Given the description of an element on the screen output the (x, y) to click on. 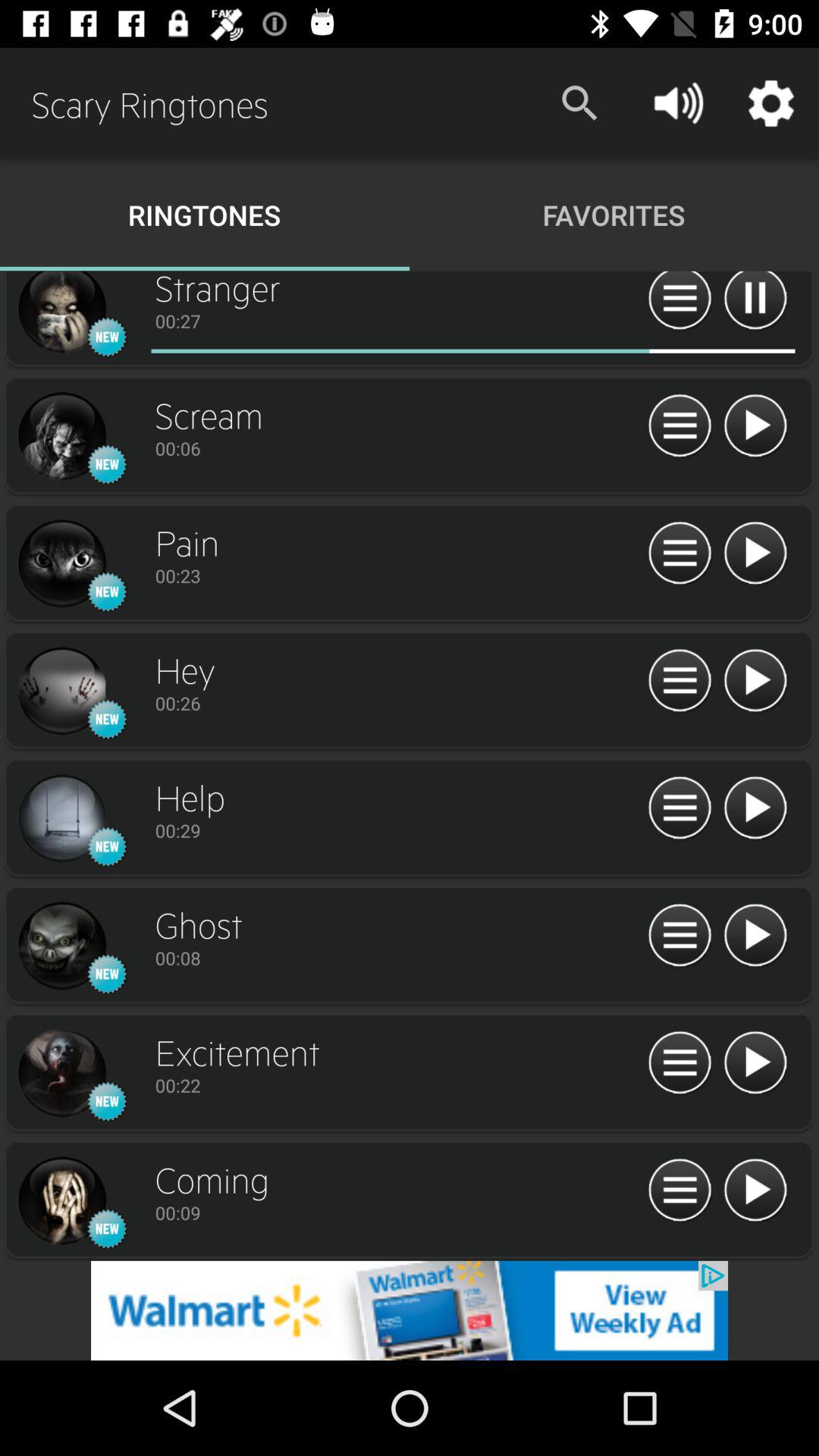
play (755, 1190)
